Given the description of an element on the screen output the (x, y) to click on. 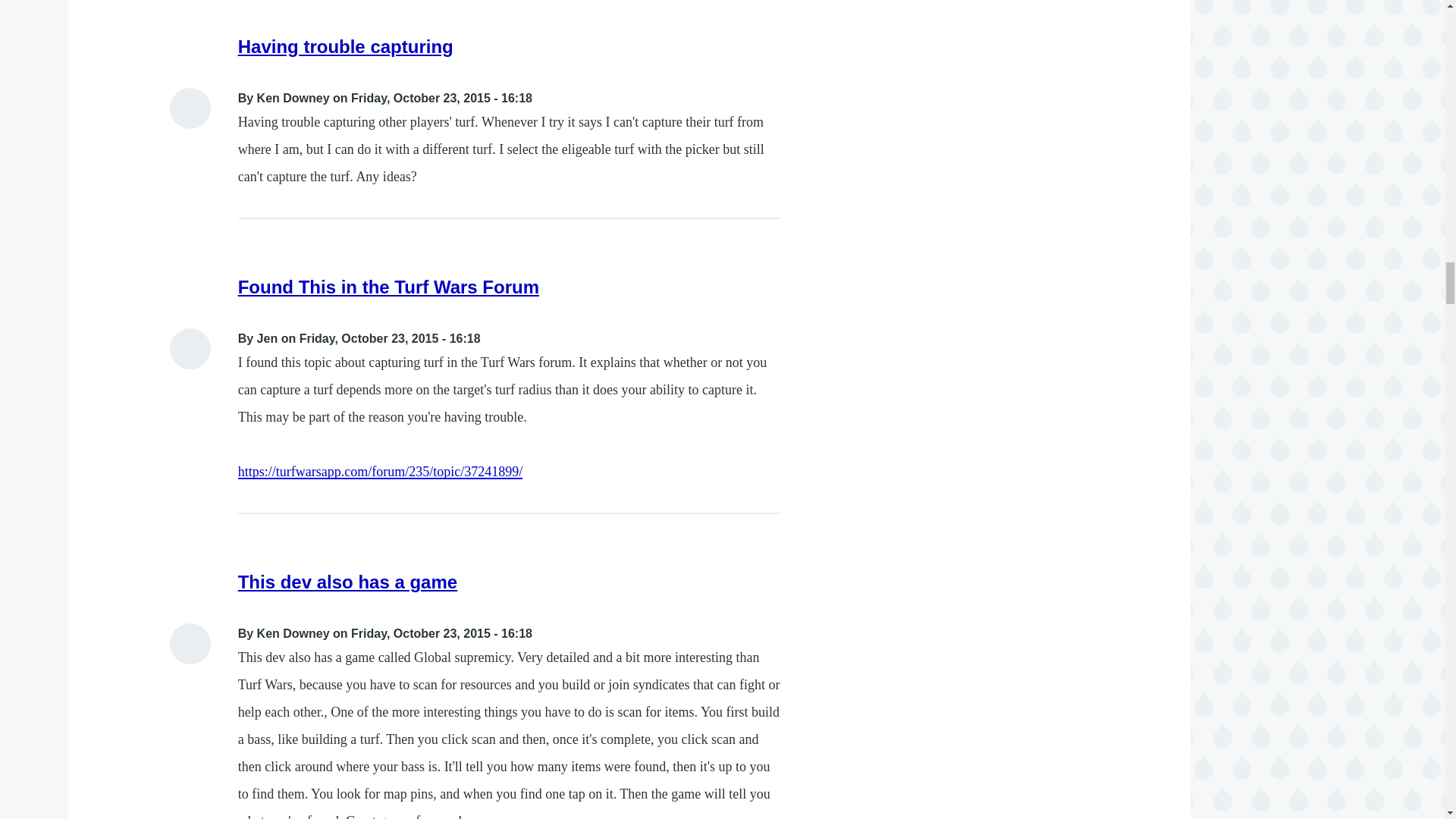
Found This in the Turf Wars Forum (388, 286)
This dev also has a game (347, 581)
Having trouble capturing (345, 46)
